Given the description of an element on the screen output the (x, y) to click on. 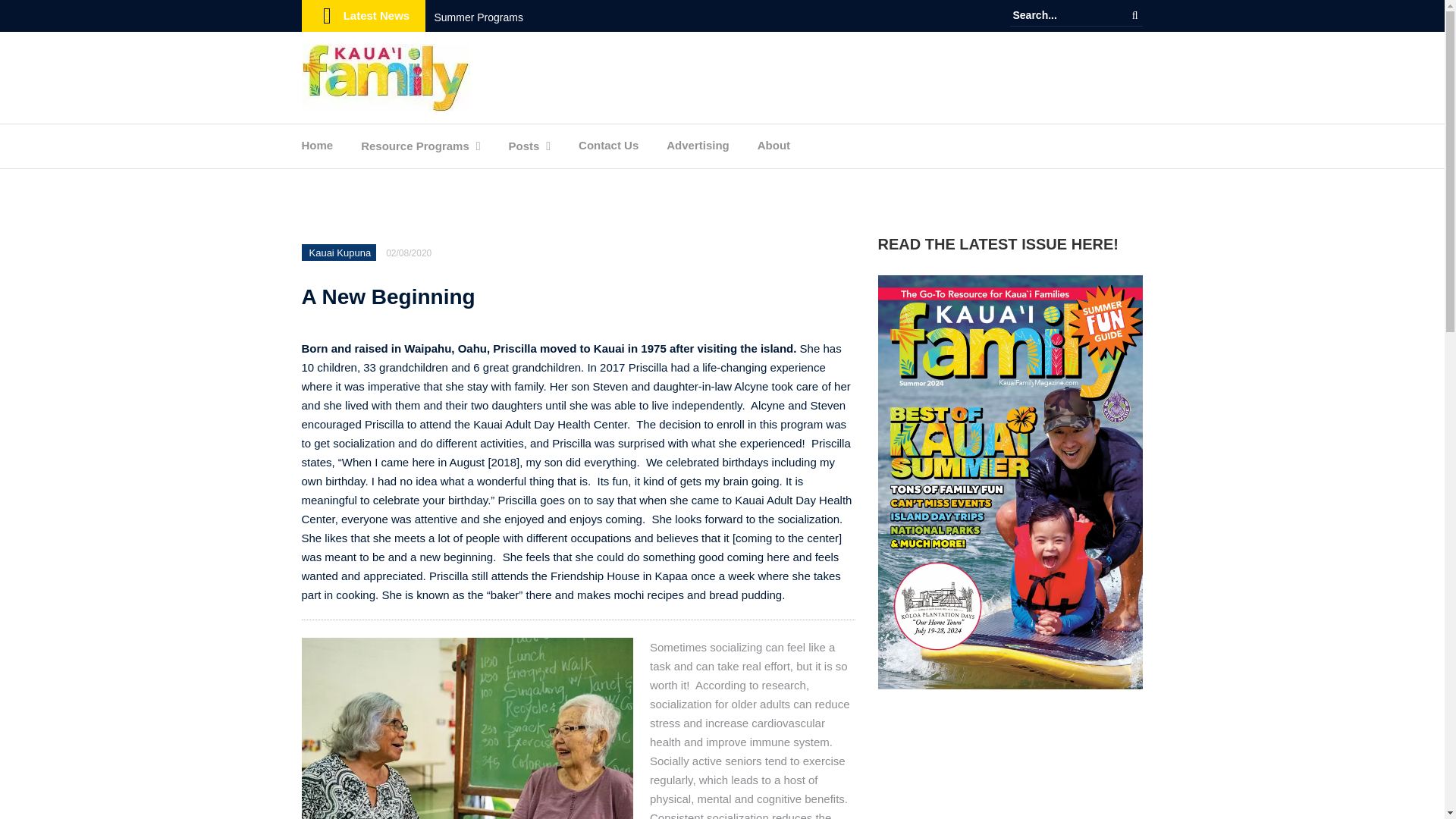
Kauai Kupuna (339, 252)
Advertising (697, 148)
Search   (1134, 14)
Resource Programs (414, 149)
Summer Programs (477, 17)
About Kauai Family Magazine (773, 148)
Contact Us (608, 148)
Home (317, 148)
Posts (523, 149)
About (773, 148)
